Given the description of an element on the screen output the (x, y) to click on. 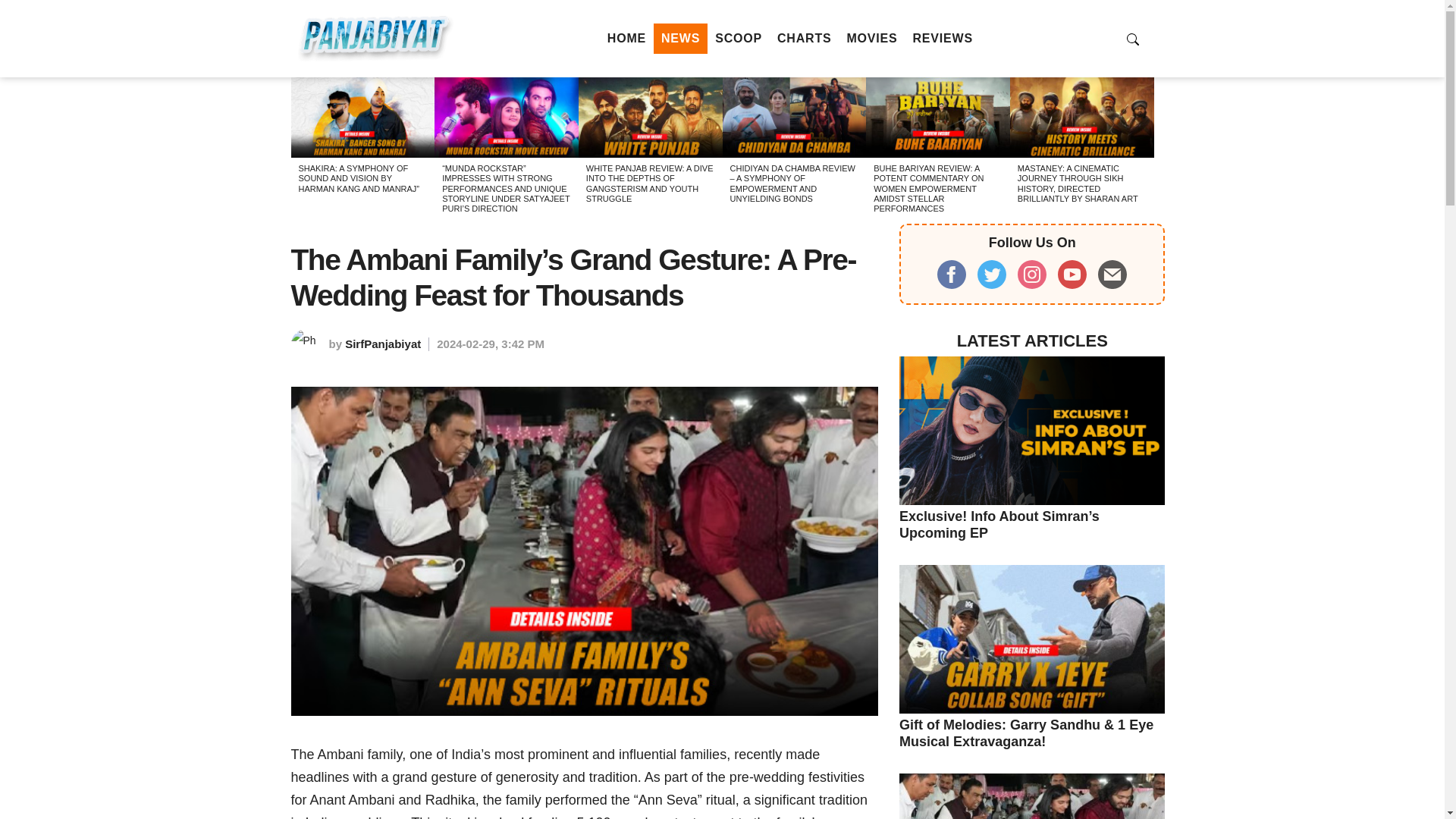
SCOOP (738, 38)
CHARTS (804, 38)
HOME (626, 38)
REVIEWS (942, 38)
SirfPanjabiyat (382, 343)
MOVIES (871, 38)
NEWS (680, 38)
